Given the description of an element on the screen output the (x, y) to click on. 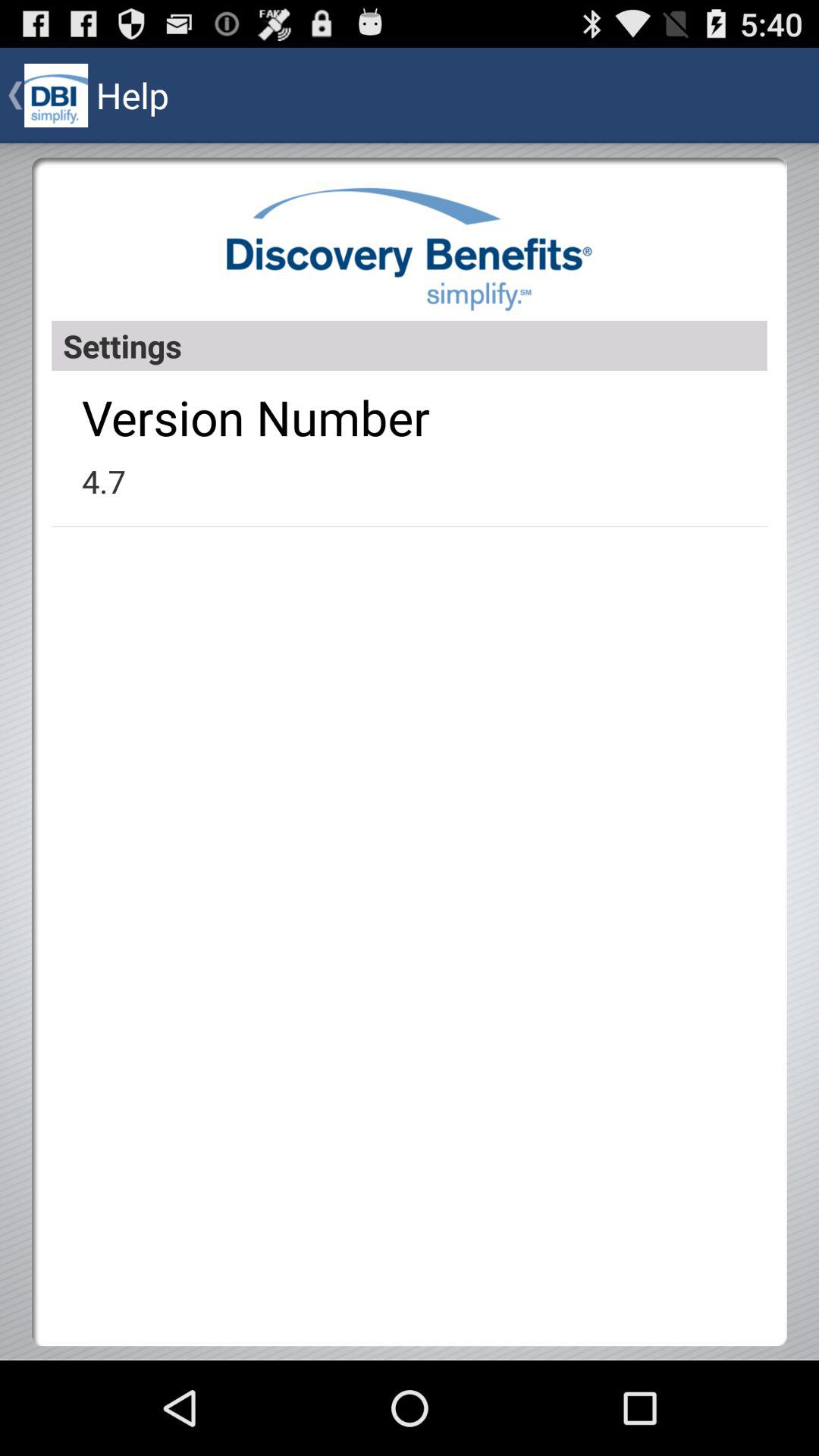
swipe to the 4.7 app (103, 480)
